Given the description of an element on the screen output the (x, y) to click on. 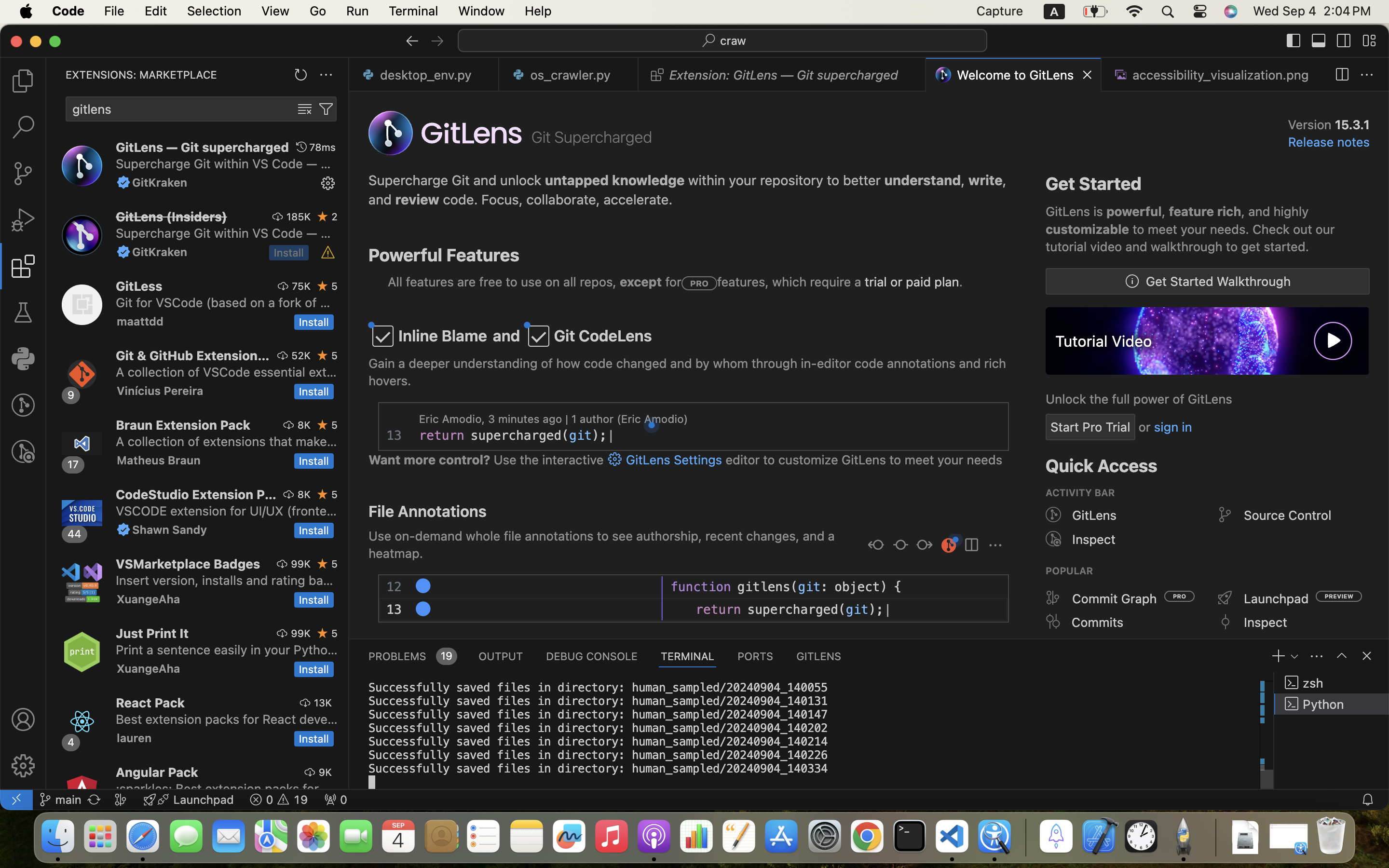
 Element type: AXButton (327, 182)
main  Element type: AXButton (59, 799)
 Element type: AXStaticText (282, 285)
Just Print It Element type: AXStaticText (152, 632)
gitlens Element type: AXStaticText (763, 586)
